Given the description of an element on the screen output the (x, y) to click on. 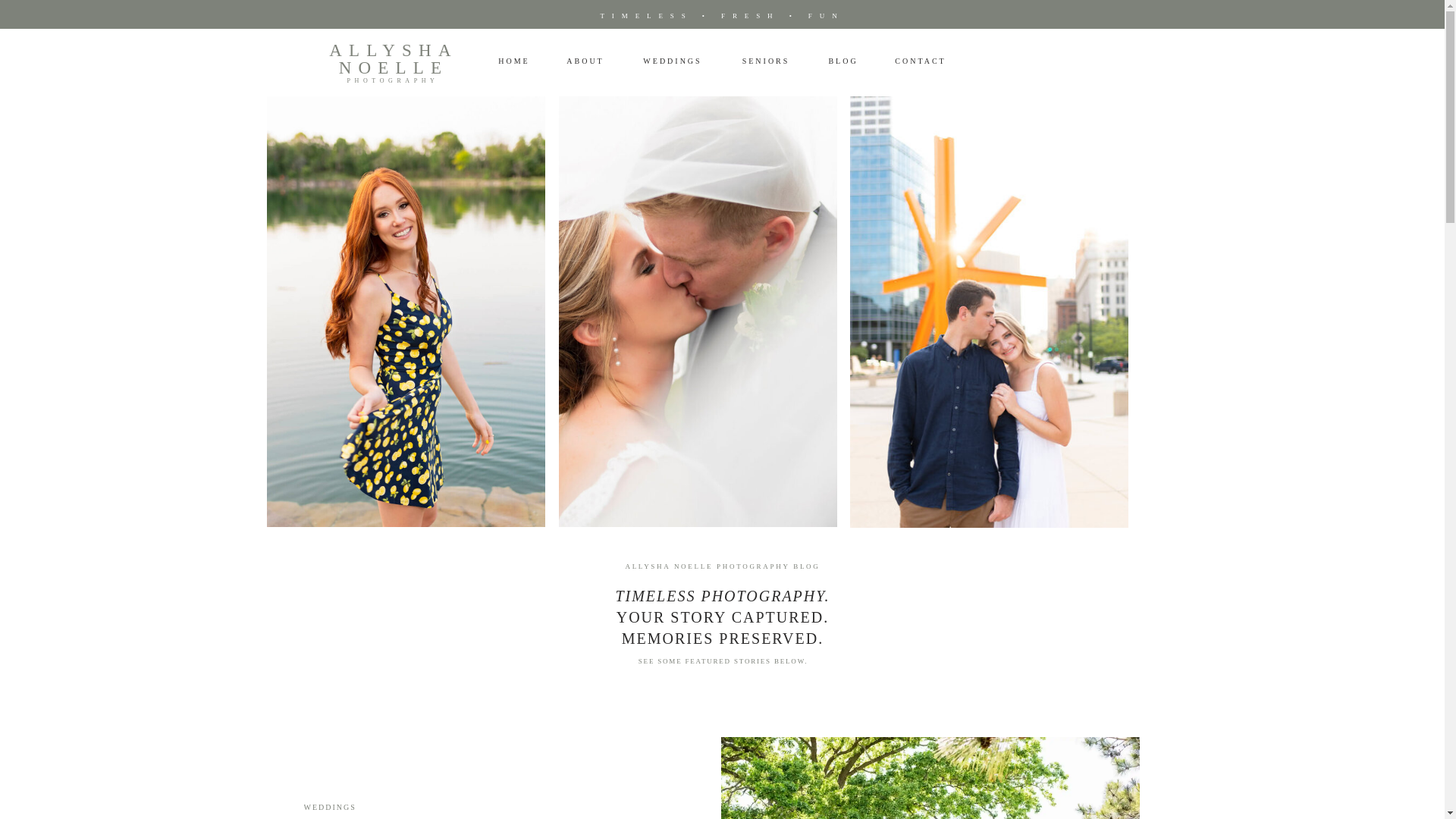
HOME (513, 61)
SENIORS (764, 61)
CONTACT (920, 62)
WEDDINGS (671, 62)
BLOG (843, 61)
WEDDINGS (328, 807)
ABOUT (584, 61)
ALLYSHA NOELLE (393, 61)
